Given the description of an element on the screen output the (x, y) to click on. 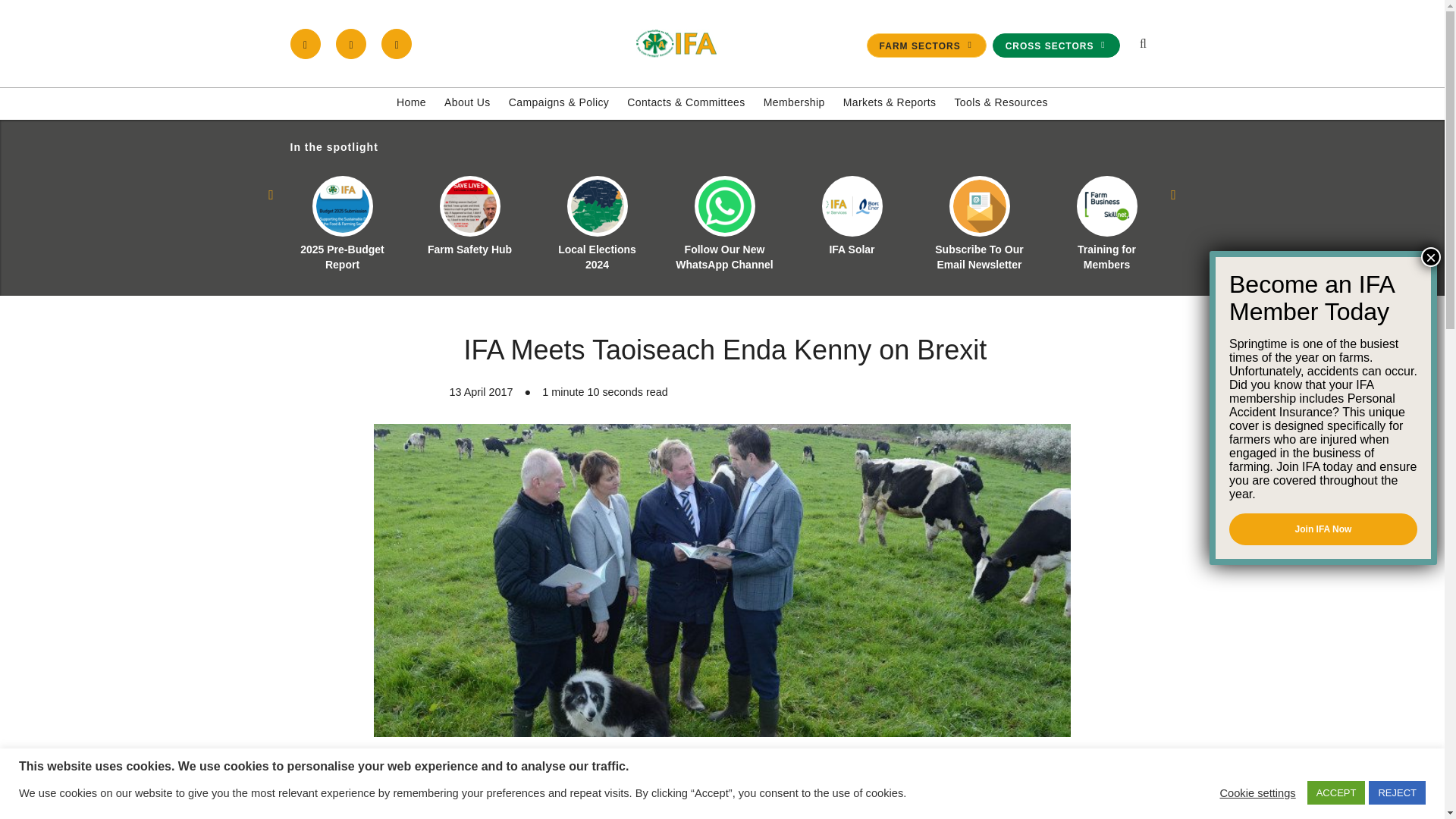
Search (1070, 210)
Follow IFA on Twitter (351, 43)
CROSS SECTORS (1055, 45)
Follow IFA on Facebook (304, 43)
FARM SECTORS (926, 45)
Home (411, 103)
About Us (467, 103)
Get the official IFA App (396, 43)
